Given the description of an element on the screen output the (x, y) to click on. 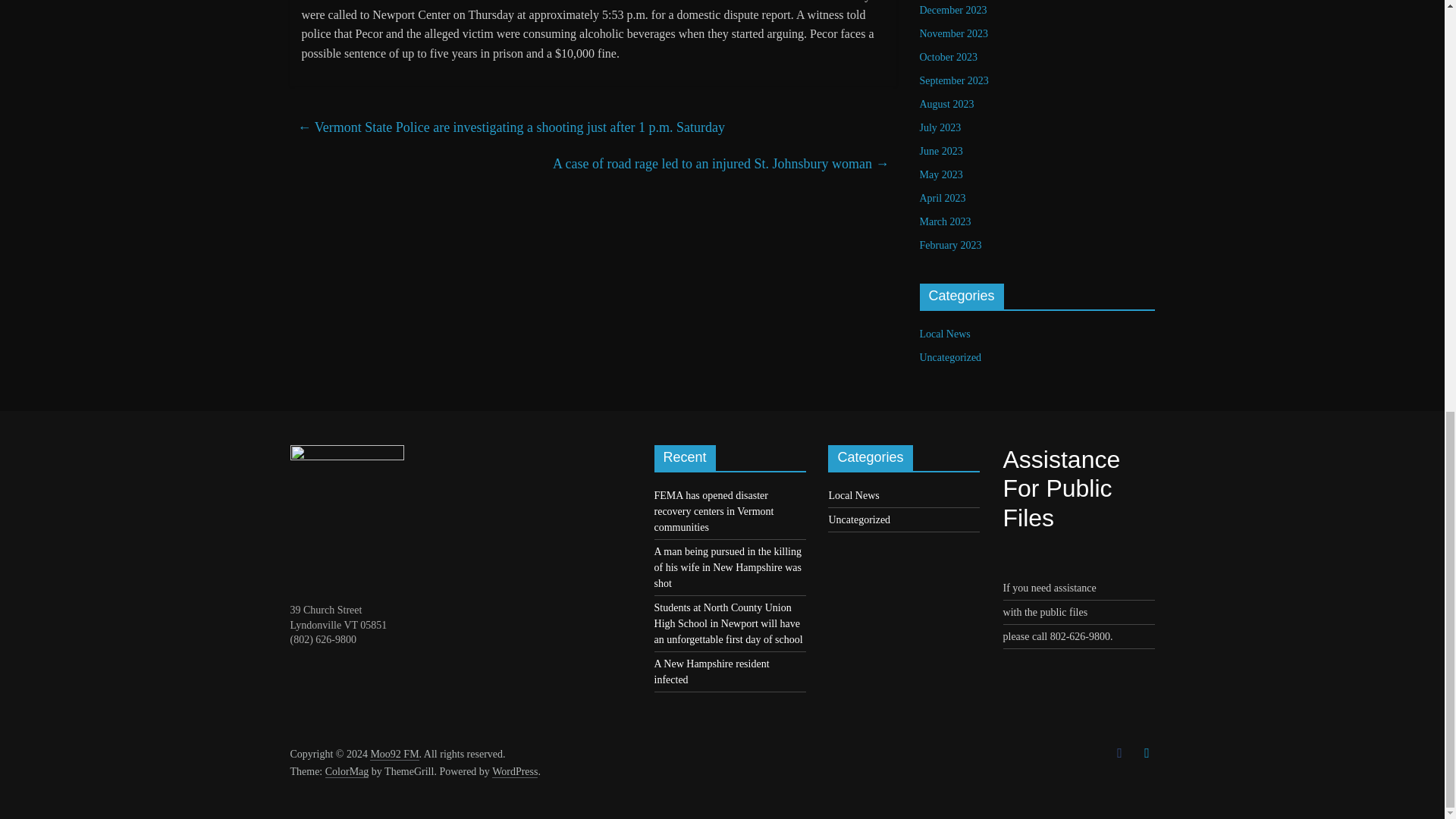
ColorMag (346, 771)
Moo92 FM (394, 754)
WordPress (514, 771)
